Given the description of an element on the screen output the (x, y) to click on. 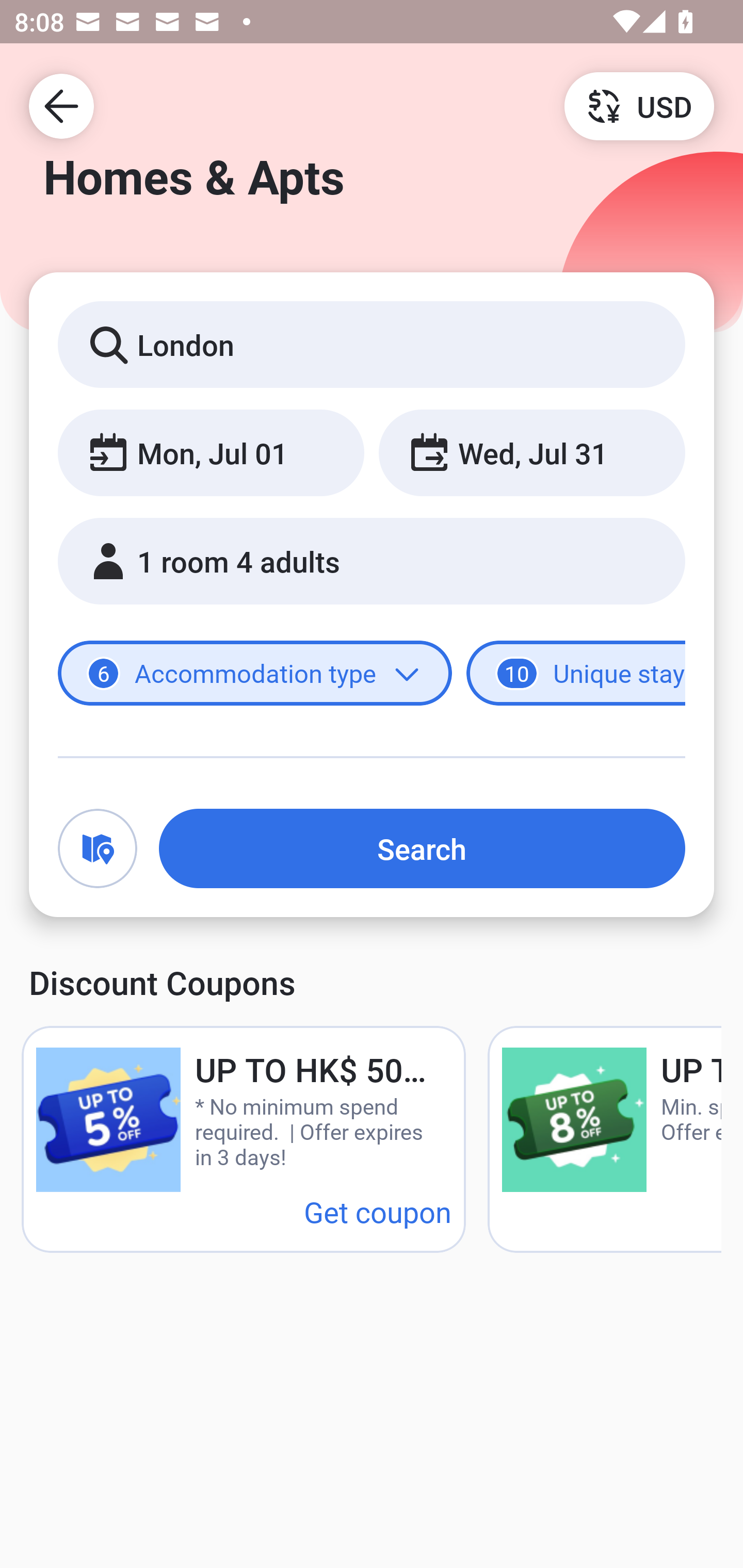
USD (639, 105)
London (371, 344)
Mon, Jul 01 (210, 452)
Wed, Jul 31 (531, 452)
1 room 4 adults (371, 561)
6 Accommodation type (254, 673)
10 Unique stays (575, 673)
Search (422, 848)
Get coupon (377, 1211)
